Given the description of an element on the screen output the (x, y) to click on. 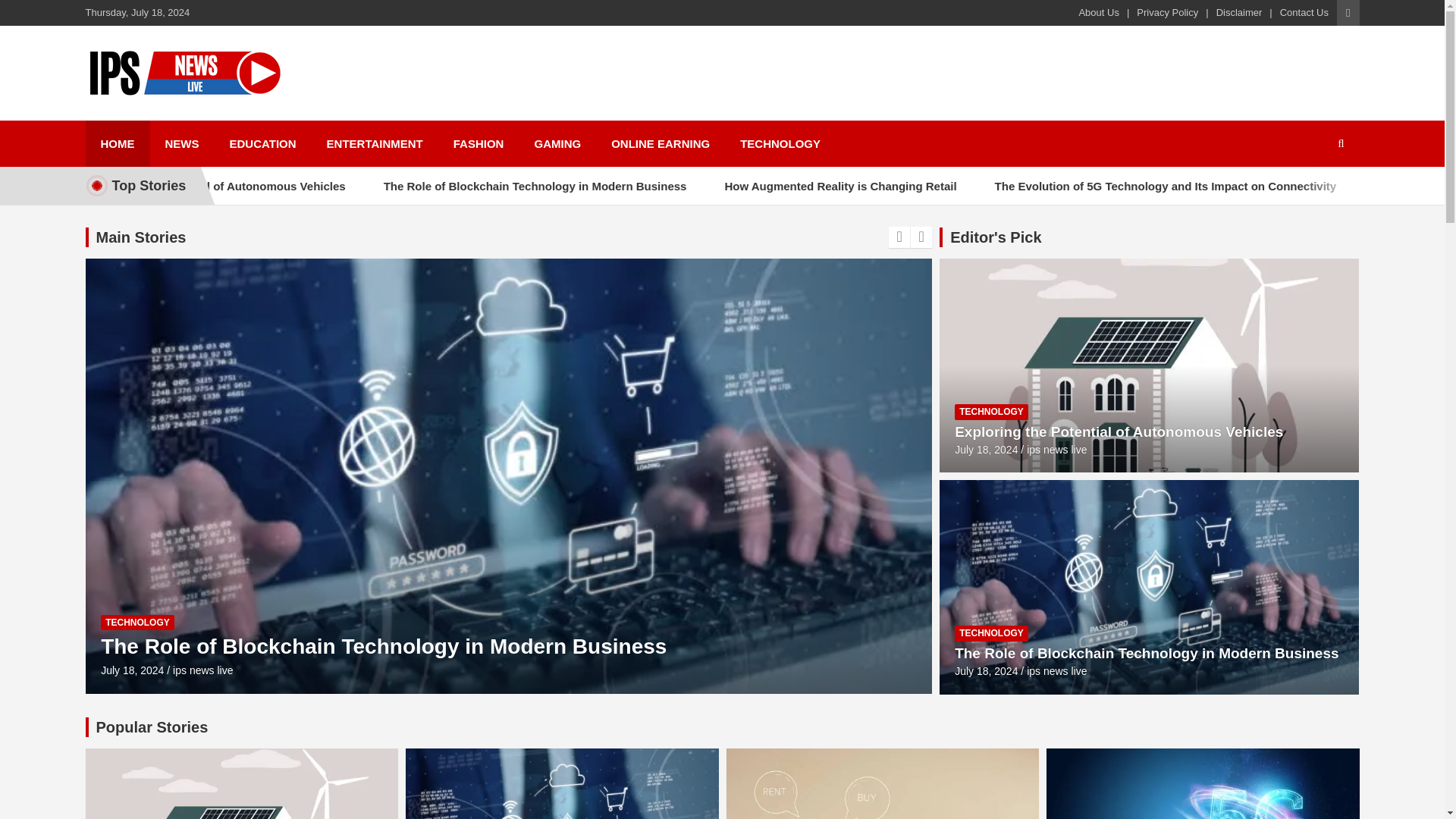
ONLINE EARNING (660, 143)
ENTERTAINMENT (374, 143)
ipsnewslive (170, 117)
EDUCATION (262, 143)
TECHNOLOGY (780, 143)
FASHION (478, 143)
Main Stories (141, 237)
Contact Us (1303, 12)
NEWS (181, 143)
The Role of Blockchain Technology in Modern Business (986, 671)
Privacy Policy (1167, 12)
HOME (116, 143)
Exploring the Potential of Autonomous Vehicles (305, 185)
The Role of Blockchain Technology in Modern Business (623, 185)
About Us (1098, 12)
